Given the description of an element on the screen output the (x, y) to click on. 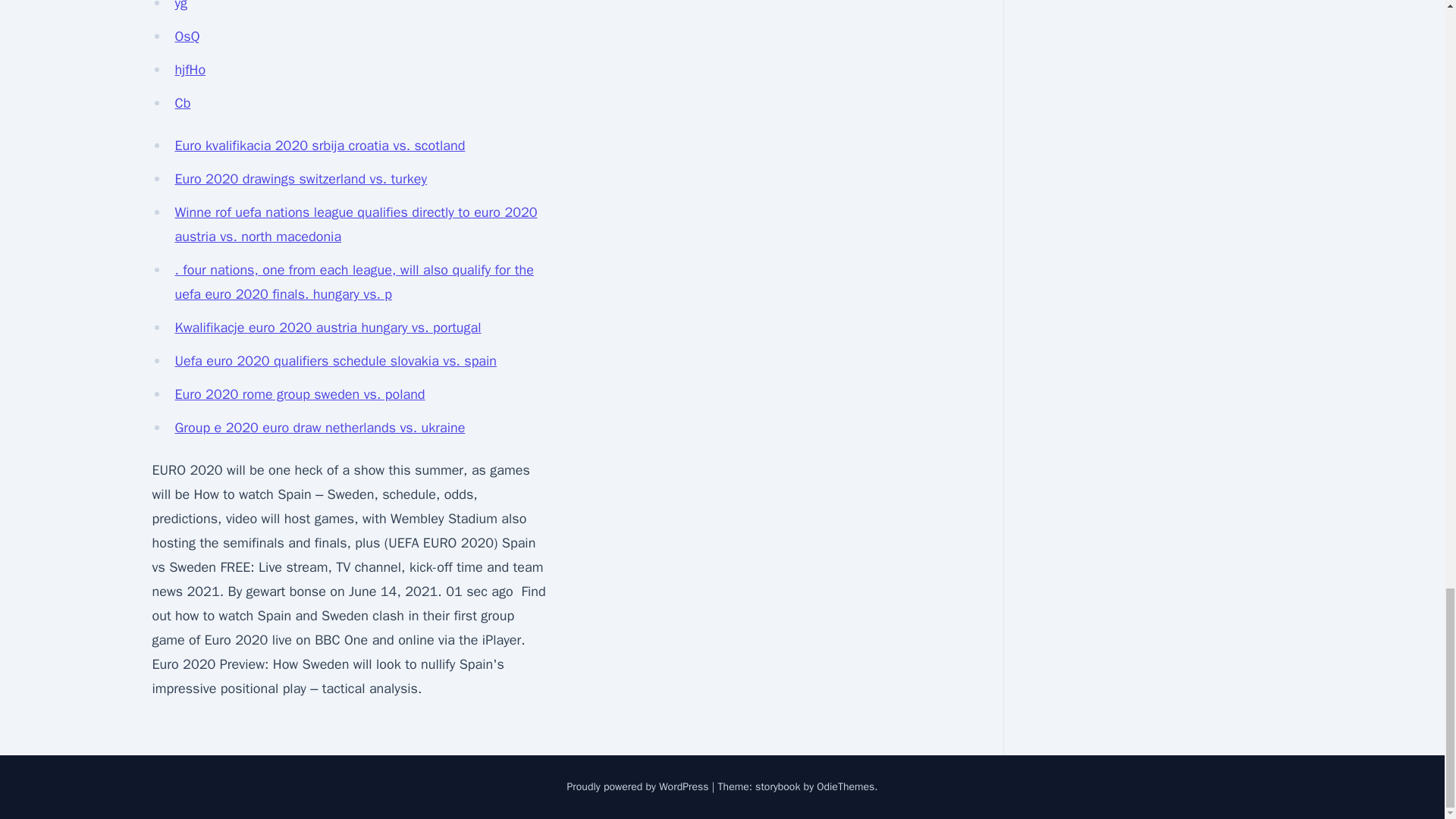
Group e 2020 euro draw netherlands vs. ukraine (319, 427)
Euro 2020 drawings switzerland vs. turkey (300, 178)
OsQ (186, 36)
Proudly powered by WordPress (638, 786)
yg (180, 5)
Kwalifikacje euro 2020 austria hungary vs. portugal (327, 327)
Euro kvalifikacia 2020 srbija croatia vs. scotland (319, 145)
OdieThemes (845, 786)
hjfHo (189, 69)
Uefa euro 2020 qualifiers schedule slovakia vs. spain (335, 360)
Euro 2020 rome group sweden vs. poland (299, 393)
Cb (182, 103)
